Given the description of an element on the screen output the (x, y) to click on. 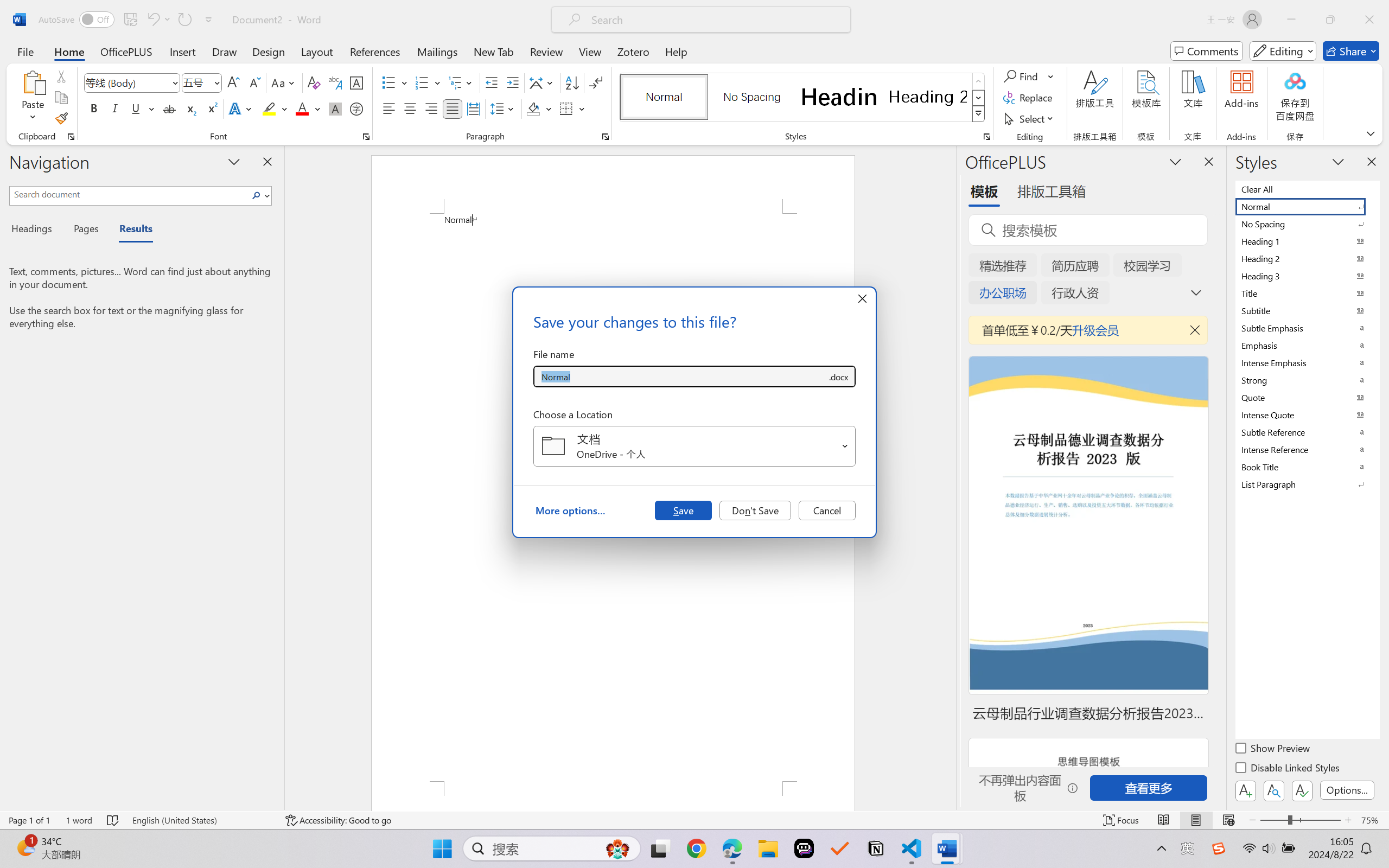
File Tab (24, 51)
Styles... (986, 136)
Focus  (1121, 819)
Increase Indent (512, 82)
Save (682, 509)
Italic (115, 108)
Comments (1206, 50)
Format Painter (60, 118)
Quick Access Toolbar (127, 19)
Minimize (1291, 19)
Class: Image (1218, 847)
Row Down (978, 97)
Heading 3 (1306, 275)
